Given the description of an element on the screen output the (x, y) to click on. 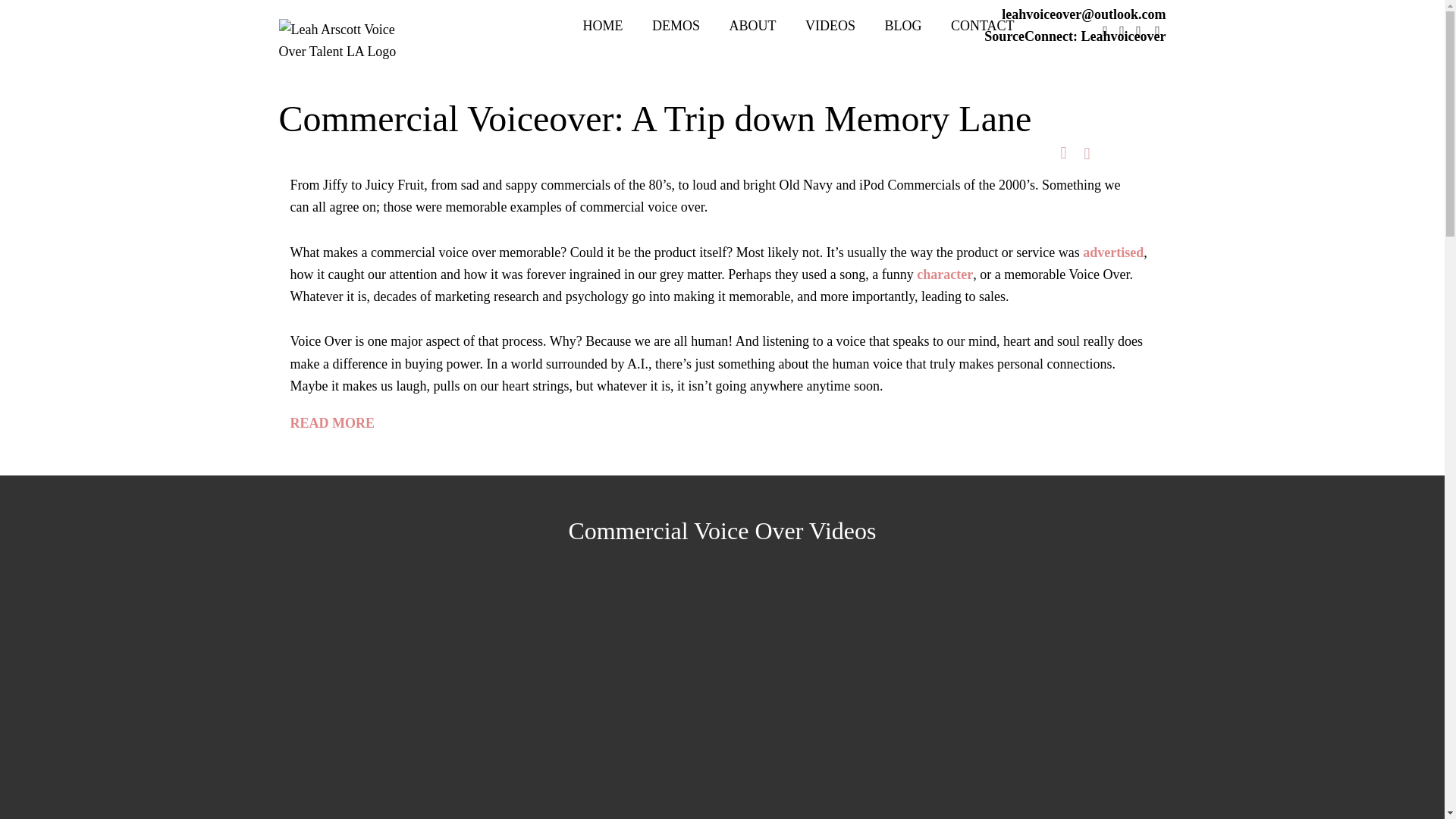
HOME (602, 25)
advertised (1112, 252)
ABOUT (752, 25)
DEMOS (676, 25)
Leah Arscott Voice Over Talent LA Logo (343, 40)
BLOG (902, 25)
CONTACT (982, 25)
VIDEOS (830, 25)
SourceConnect: Leahvoiceover (1075, 36)
character (944, 273)
READ MORE (331, 422)
